Given the description of an element on the screen output the (x, y) to click on. 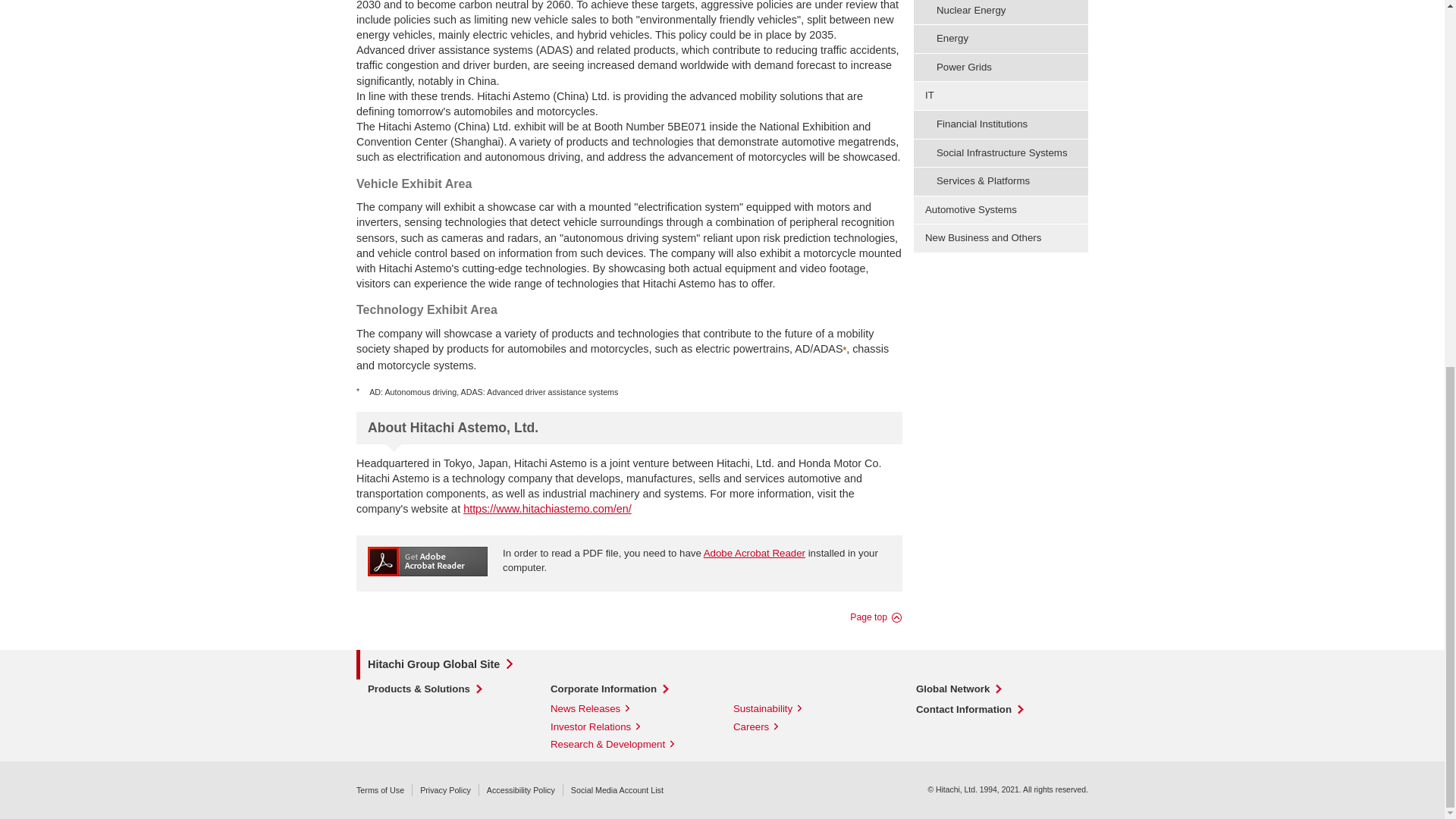
Nuclear Energy (1000, 12)
Energy (1000, 38)
Adobe Acrobat Reader (754, 552)
Financial Institutions (1000, 123)
Power Grids (1000, 67)
Page top (876, 617)
Social Infrastructure Systems (1000, 152)
